Given the description of an element on the screen output the (x, y) to click on. 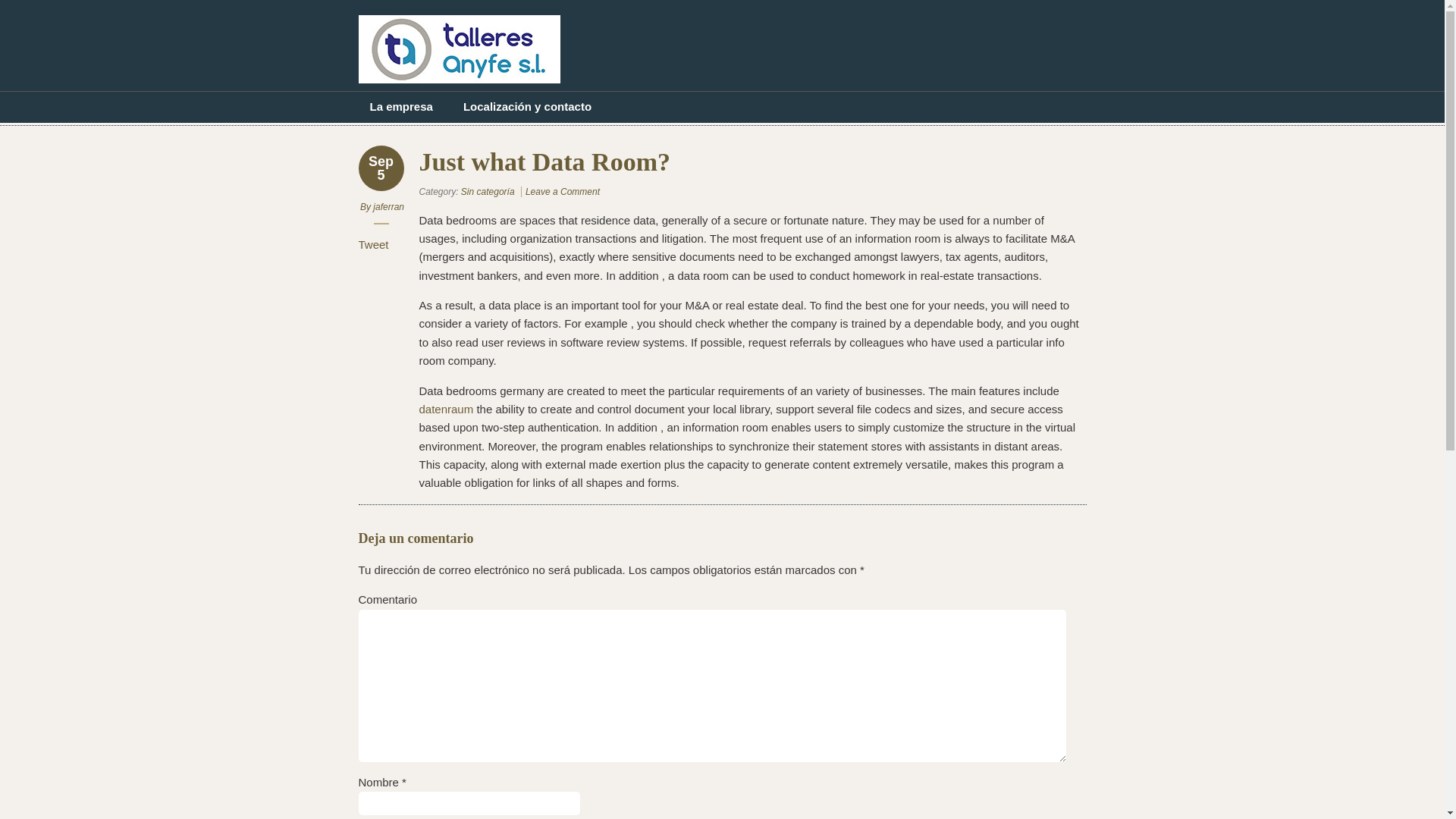
jaferran (388, 206)
La empresa (401, 106)
datenraum (446, 408)
Entradas de jaferran (388, 206)
Leave a Comment (562, 191)
Just what Data Room? (562, 191)
Tweet (373, 244)
